Given the description of an element on the screen output the (x, y) to click on. 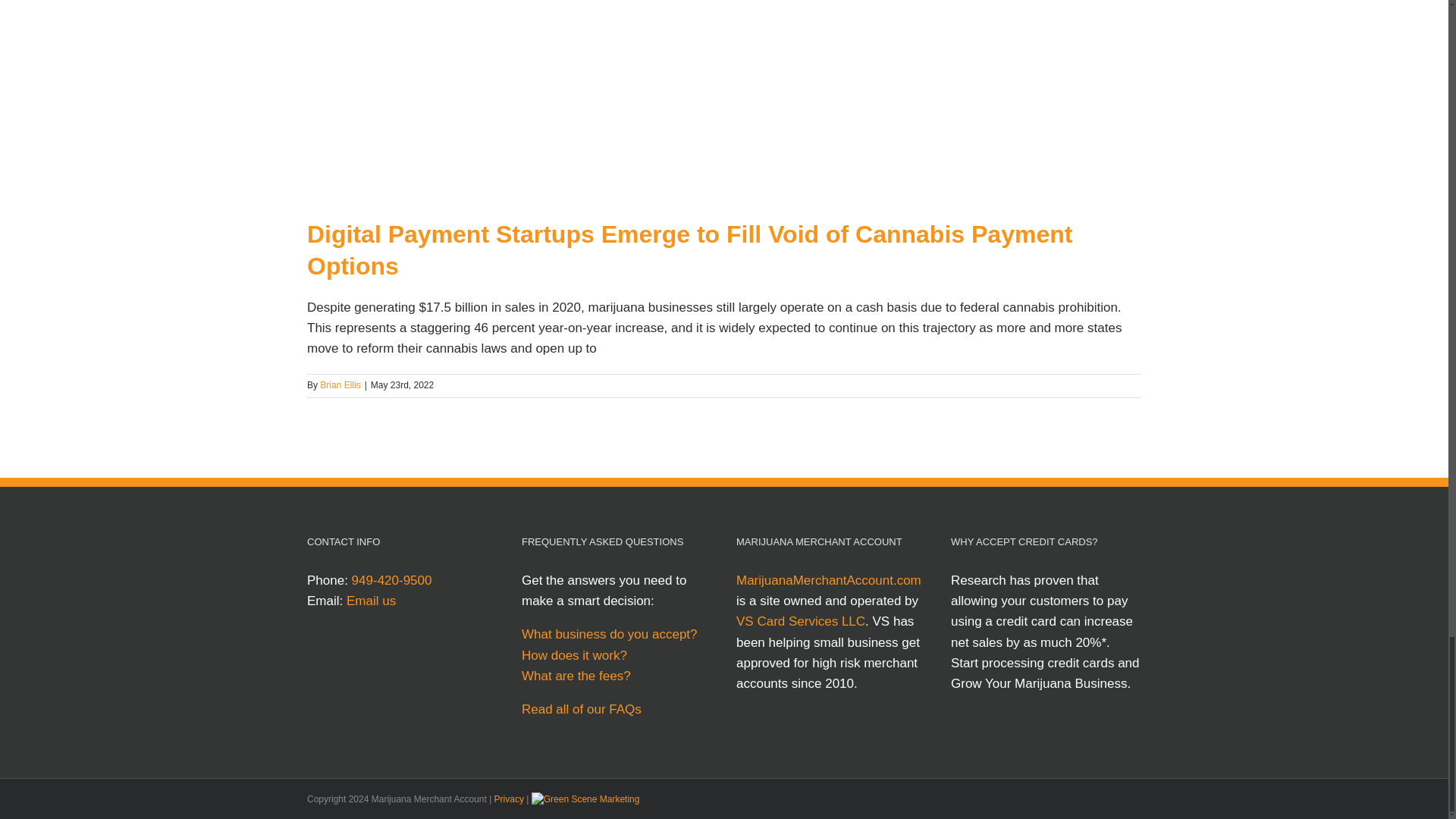
How does it work? (616, 655)
Brian Ellis (339, 385)
What business do you accept? (616, 634)
Privacy (509, 798)
Read all of our FAQs (581, 708)
949-420-9500 (392, 580)
VS Card Services LLC (800, 621)
What are the fees? (616, 675)
Email us (371, 600)
